Given the description of an element on the screen output the (x, y) to click on. 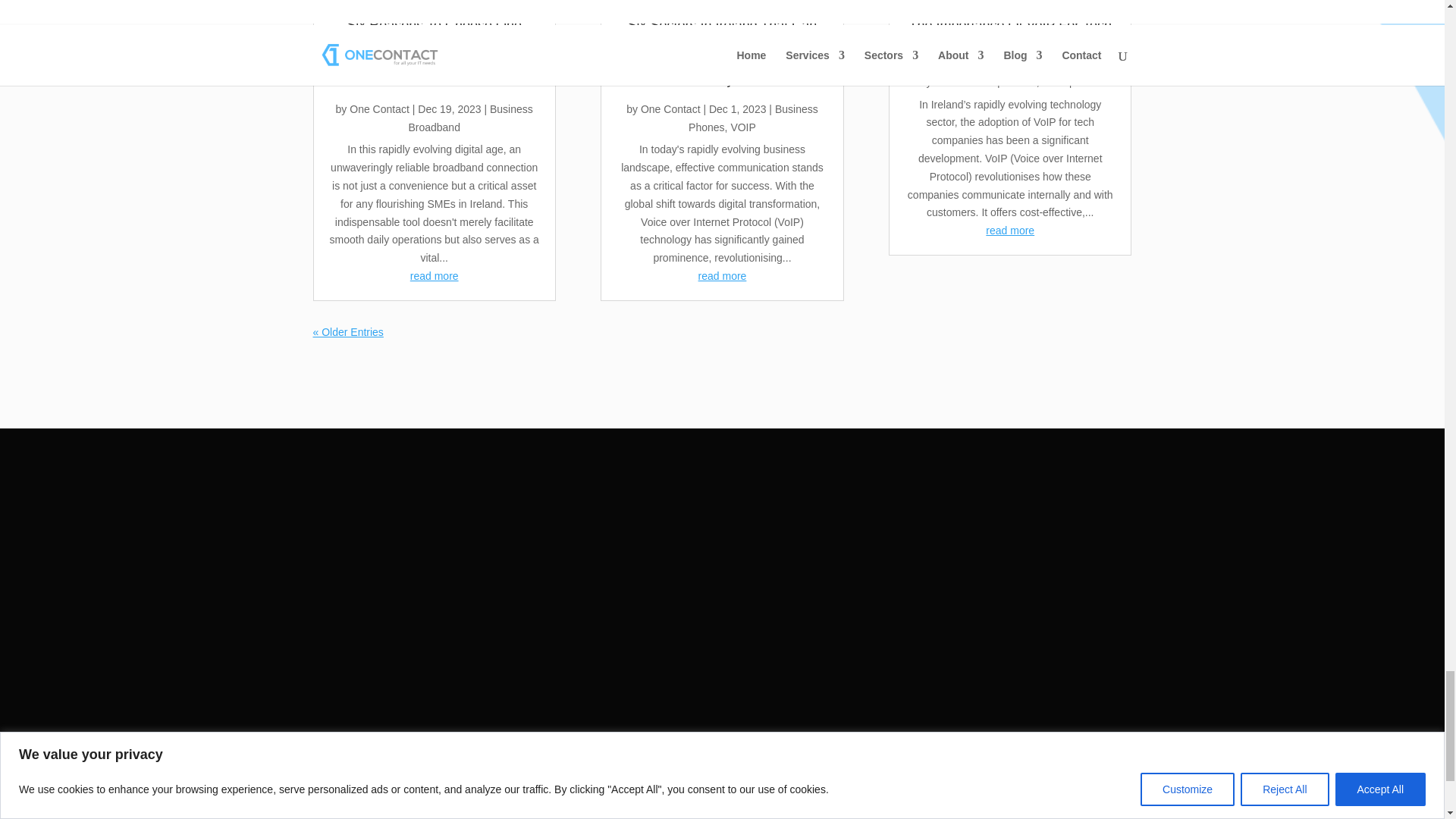
Posts by One Contact (379, 109)
Posts by One Contact (670, 109)
Posts by One Contact (964, 81)
